Given the description of an element on the screen output the (x, y) to click on. 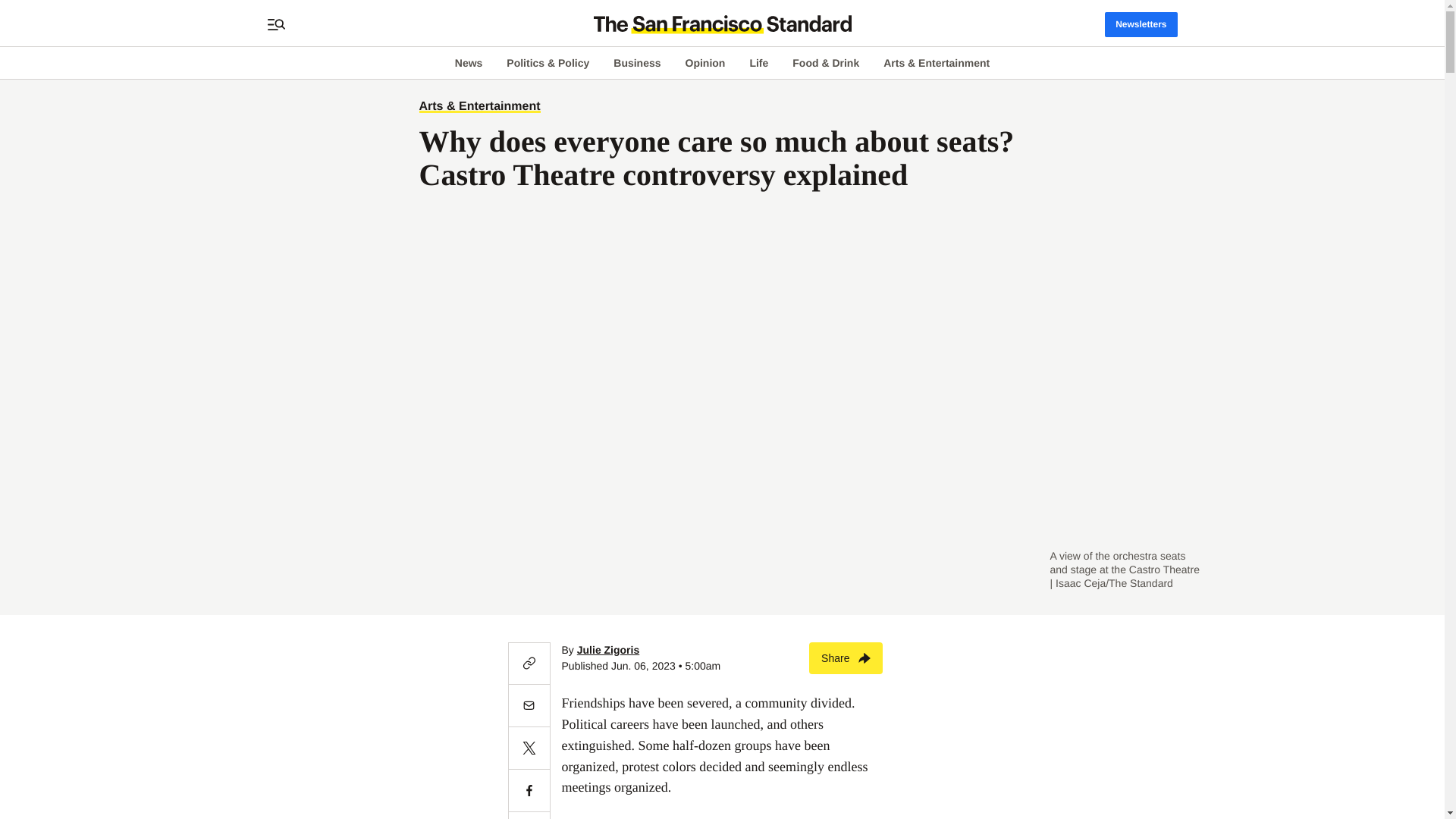
Copy link to this article (529, 663)
Newsletters (1140, 24)
News (468, 62)
Julie Zigoris (607, 649)
Business (636, 62)
Share (845, 658)
Open search bar and full menu (275, 24)
Life (758, 62)
Opinion (705, 62)
